Given the description of an element on the screen output the (x, y) to click on. 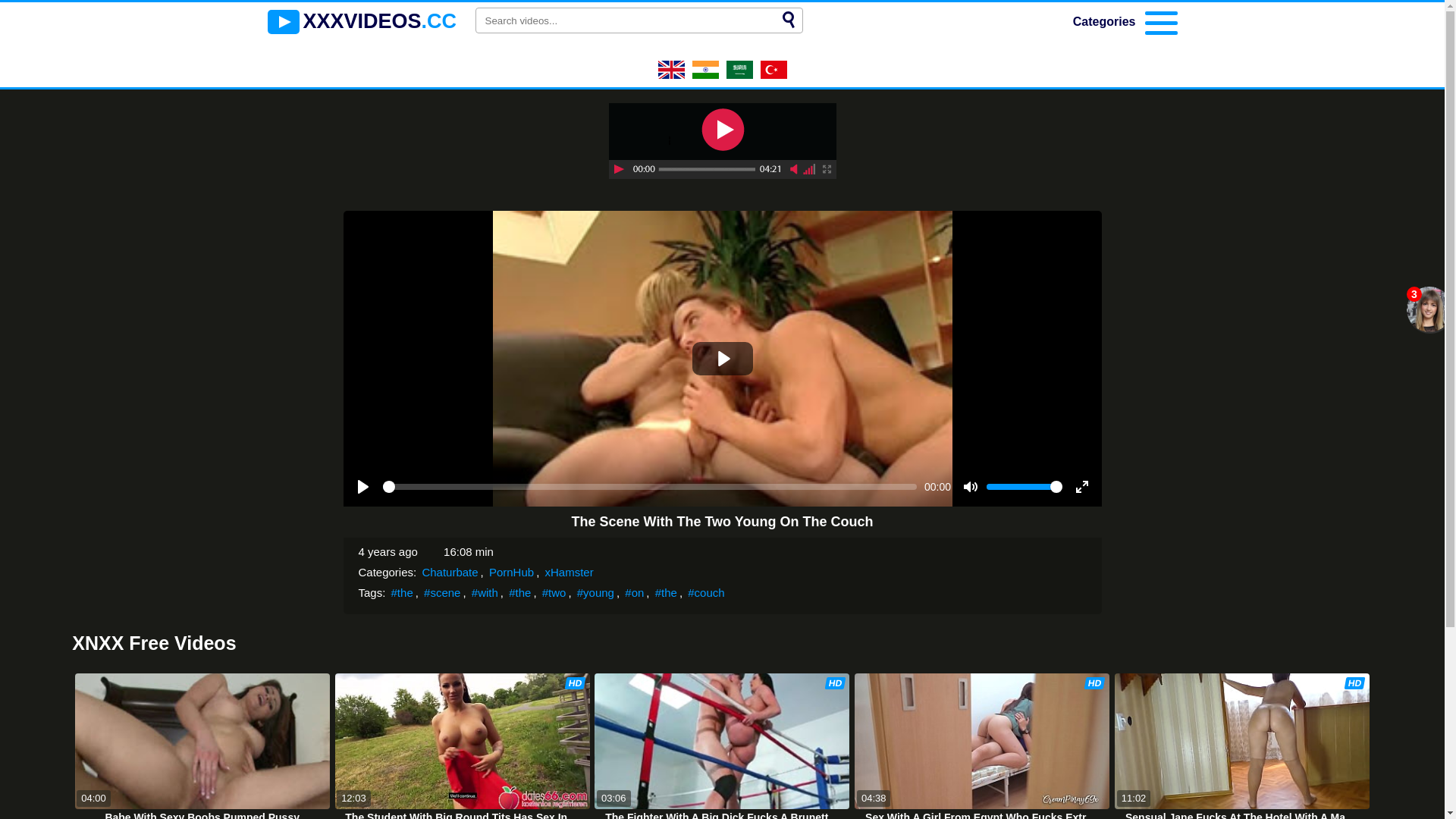
#the Element type: text (666, 592)
#two Element type: text (554, 592)
XXXVIDEOS.CC Element type: text (361, 21)
EN Element type: hover (671, 74)
Search Element type: text (788, 20)
#young Element type: text (595, 592)
#the Element type: text (519, 592)
#with Element type: text (484, 592)
#on Element type: text (633, 592)
#the Element type: text (402, 592)
IN Element type: hover (704, 74)
PornHub Element type: text (511, 571)
Chaturbate Element type: text (449, 571)
SA Element type: hover (739, 74)
#scene Element type: text (441, 592)
xHamster Element type: text (568, 571)
#couch Element type: text (705, 592)
TR Element type: hover (772, 74)
